Given the description of an element on the screen output the (x, y) to click on. 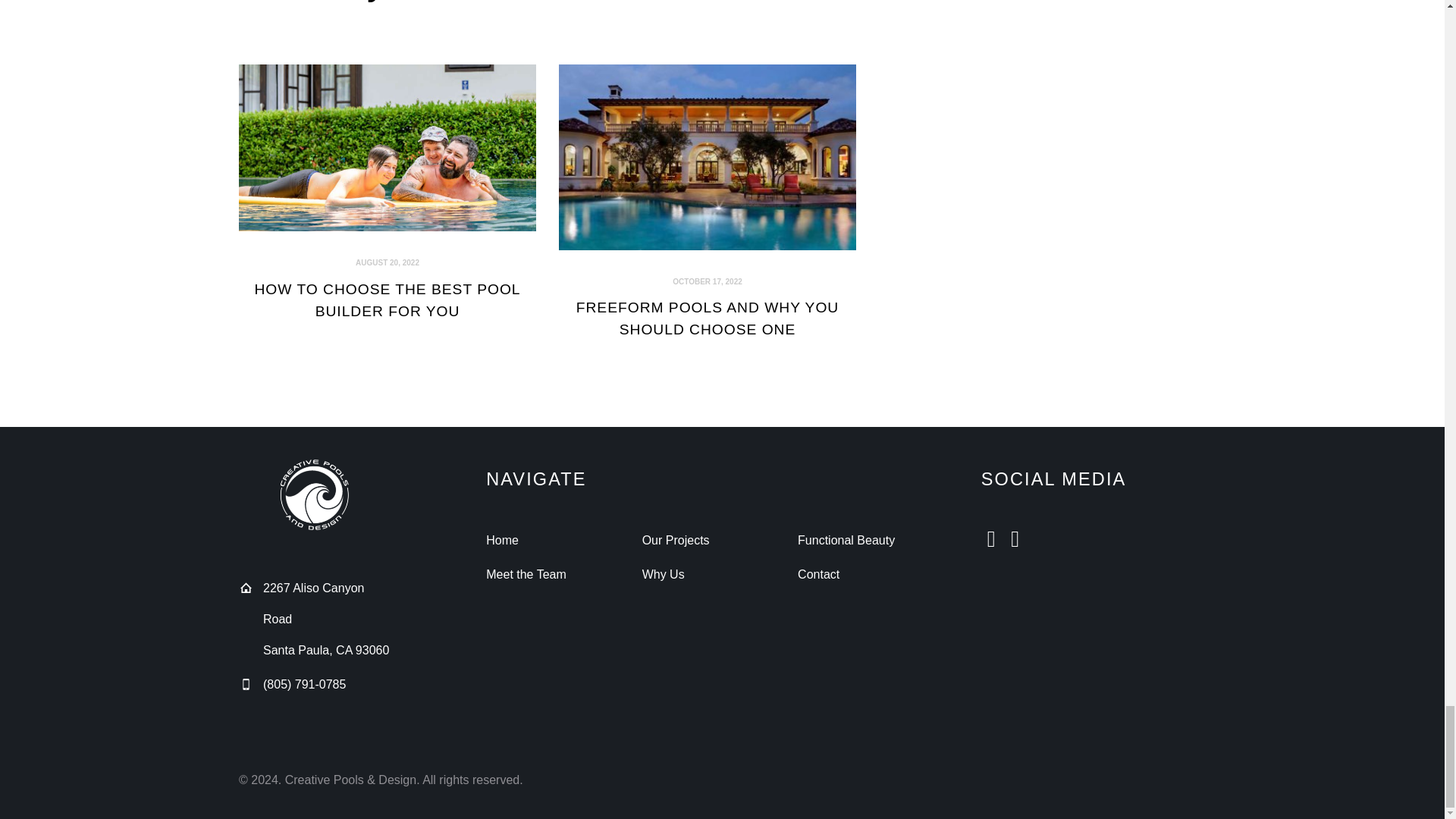
OCTOBER 17, 2022 (707, 281)
HOW TO CHOOSE THE BEST POOL BUILDER FOR YOU (386, 300)
AUGUST 20, 2022 (387, 262)
FREEFORM POOLS AND WHY YOU SHOULD CHOOSE ONE (707, 319)
